Given the description of an element on the screen output the (x, y) to click on. 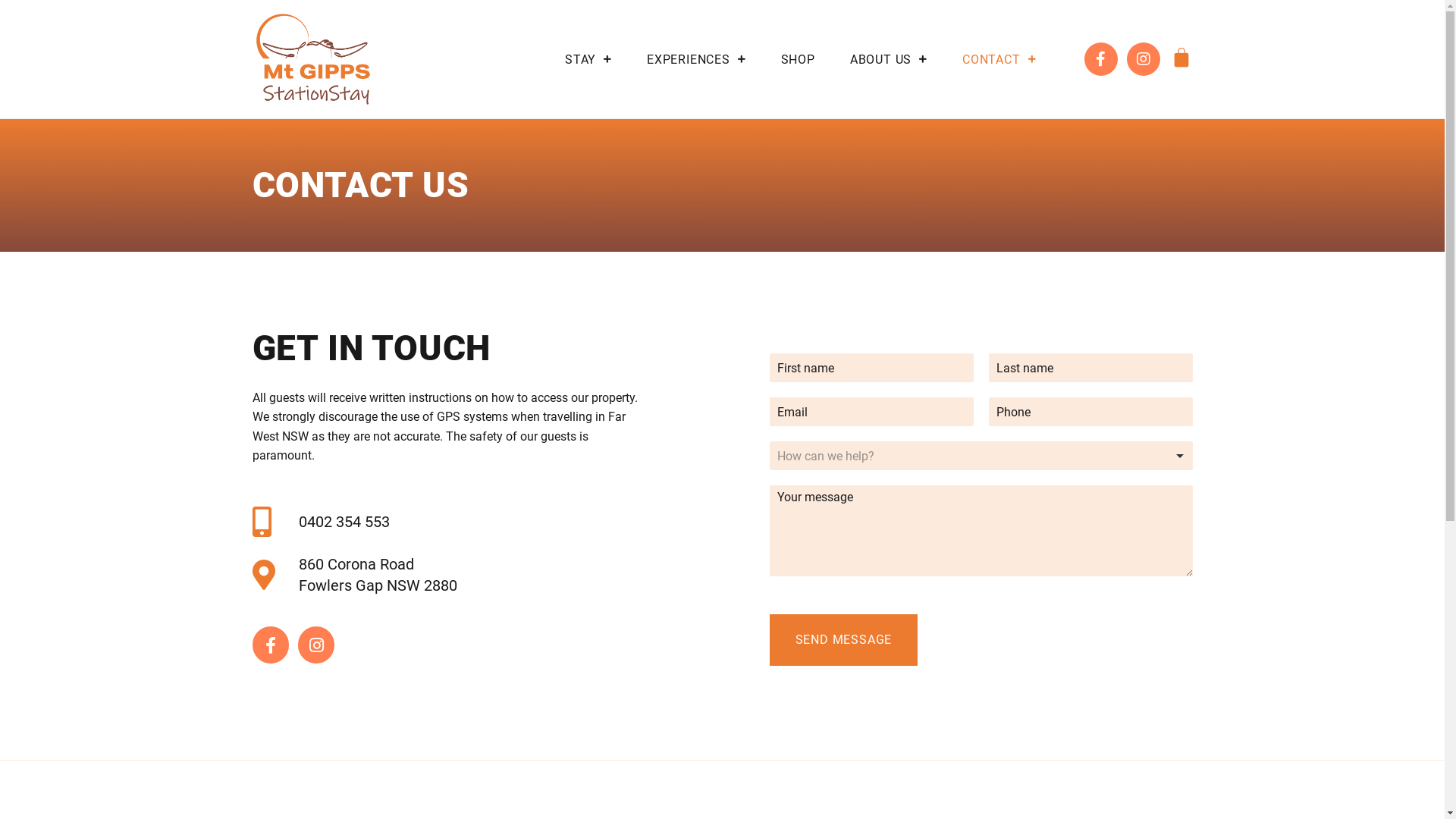
SEND MESSAGE Element type: text (842, 639)
0402 354 553 Element type: text (451, 521)
EXPERIENCES Element type: text (696, 59)
ABOUT US Element type: text (888, 59)
860 Corona Road
Fowlers Gap NSW 2880 Element type: text (451, 574)
SHOP Element type: text (797, 59)
CONTACT Element type: text (999, 59)
STAY Element type: text (588, 59)
